Given the description of an element on the screen output the (x, y) to click on. 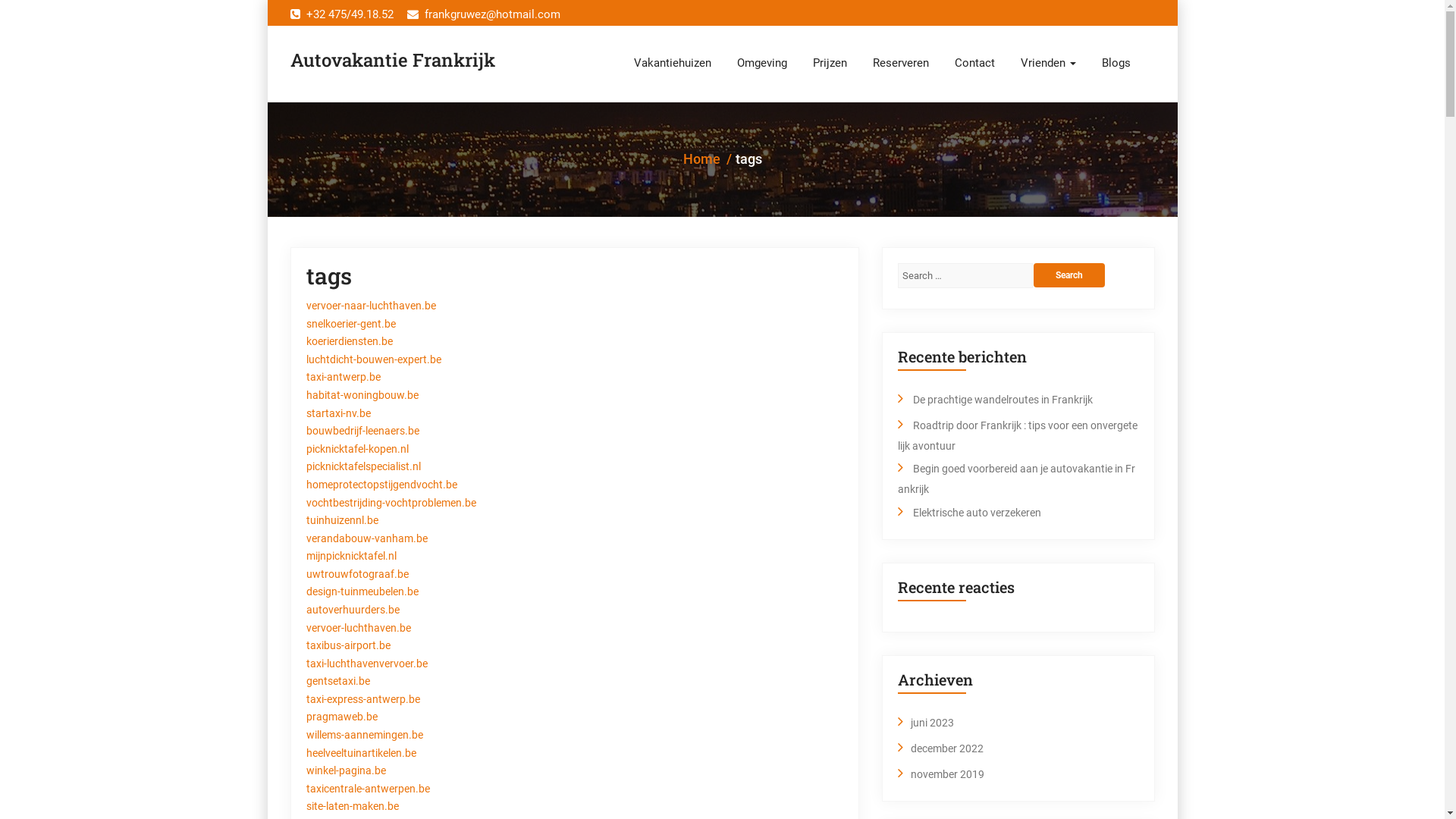
december 2022 Element type: text (946, 748)
startaxi-nv.be Element type: text (338, 413)
picknicktafelspecialist.nl Element type: text (363, 467)
Vakantiehuizen Element type: text (671, 62)
Autovakantie Frankrijk Element type: text (391, 61)
juni 2023 Element type: text (931, 722)
Vrienden Element type: text (1047, 62)
+32 475/49.18.52 Element type: text (340, 14)
taxi-express-antwerp.be Element type: text (363, 699)
De prachtige wandelroutes in Frankrijk Element type: text (1002, 399)
taxibus-airport.be Element type: text (348, 646)
luchtdicht-bouwen-expert.be Element type: text (373, 360)
uwtrouwfotograaf.be Element type: text (357, 574)
site-laten-maken.be Element type: text (352, 806)
Home Element type: text (700, 158)
gentsetaxi.be Element type: text (338, 681)
taxi-luchthavenvervoer.be Element type: text (366, 664)
bouwbedrijf-leenaers.be Element type: text (362, 431)
taxi-antwerp.be Element type: text (343, 377)
heelveeltuinartikelen.be Element type: text (361, 753)
snelkoerier-gent.be Element type: text (350, 324)
Begin goed voorbereid aan je autovakantie in Frankrijk Element type: text (1016, 478)
vervoer-naar-luchthaven.be Element type: text (371, 306)
winkel-pagina.be Element type: text (345, 771)
Prijzen Element type: text (828, 62)
willems-aannemingen.be Element type: text (364, 735)
Reserveren Element type: text (900, 62)
Contact Element type: text (974, 62)
Blogs Element type: text (1116, 62)
vochtbestrijding-vochtproblemen.be Element type: text (391, 503)
design-tuinmeubelen.be Element type: text (362, 592)
verandabouw-vanham.be Element type: text (366, 539)
mijnpicknicktafel.nl Element type: text (351, 556)
picknicktafel-kopen.nl Element type: text (357, 449)
koerierdiensten.be Element type: text (349, 341)
frankgruwez@hotmail.com Element type: text (482, 14)
homeprotectopstijgendvocht.be Element type: text (381, 485)
Search Element type: text (1068, 275)
tuinhuizennl.be Element type: text (342, 520)
Elektrische auto verzekeren Element type: text (977, 512)
november 2019 Element type: text (946, 774)
taxicentrale-antwerpen.be Element type: text (367, 789)
autoverhuurders.be Element type: text (352, 610)
Omgeving Element type: text (760, 62)
pragmaweb.be Element type: text (341, 717)
vervoer-luchthaven.be Element type: text (358, 628)
habitat-woningbouw.be Element type: text (362, 395)
